Given the description of an element on the screen output the (x, y) to click on. 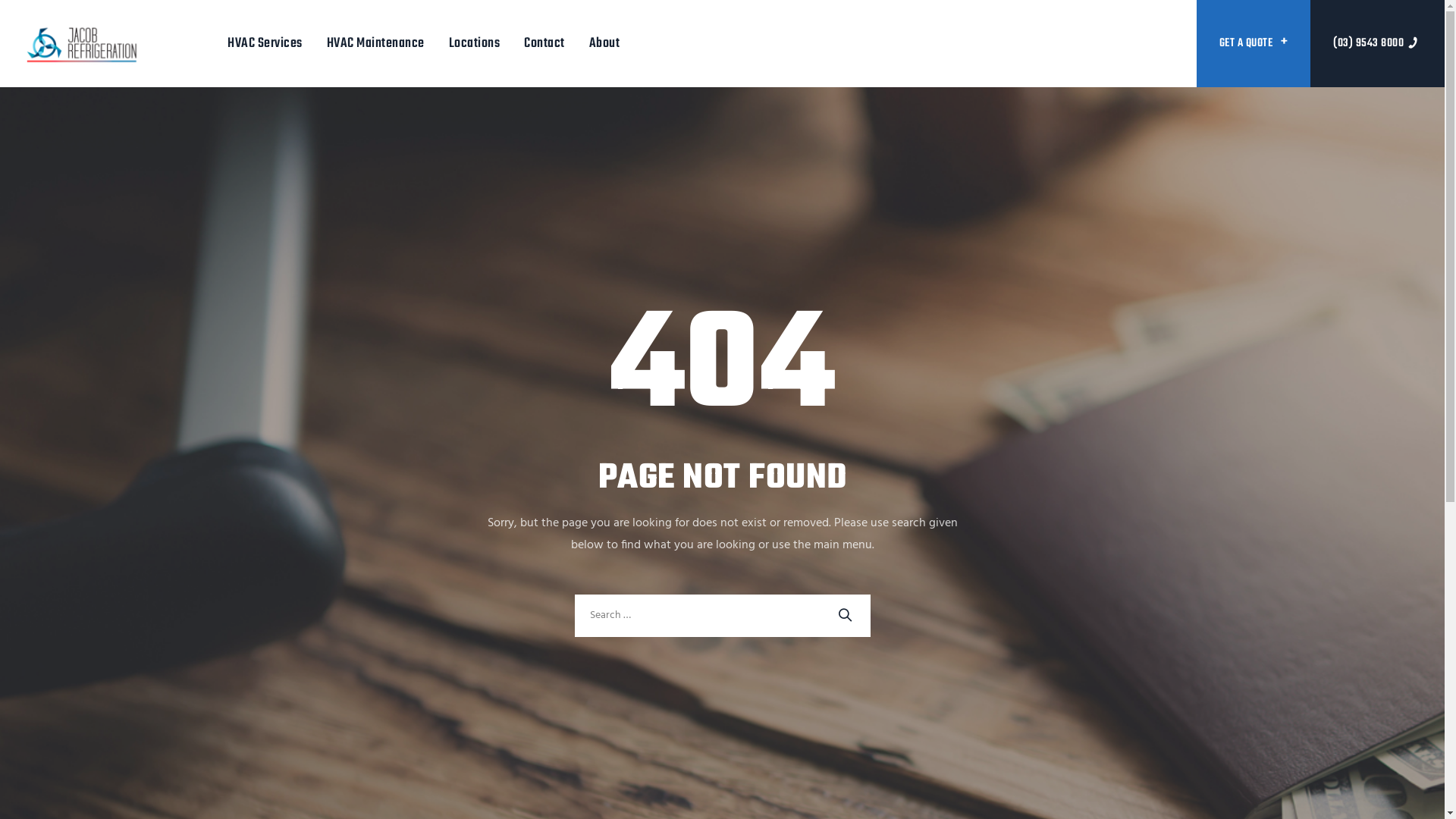
Jacob Refrigeration Element type: hover (81, 43)
HVAC Services Element type: text (264, 43)
Contact Element type: text (544, 43)
Locations Element type: text (474, 43)
About Element type: text (604, 43)
GET A QUOTE Element type: text (1253, 43)
(03) 9543 8000 Element type: text (1377, 43)
Search Element type: text (852, 611)
HVAC Maintenance Element type: text (375, 43)
